Given the description of an element on the screen output the (x, y) to click on. 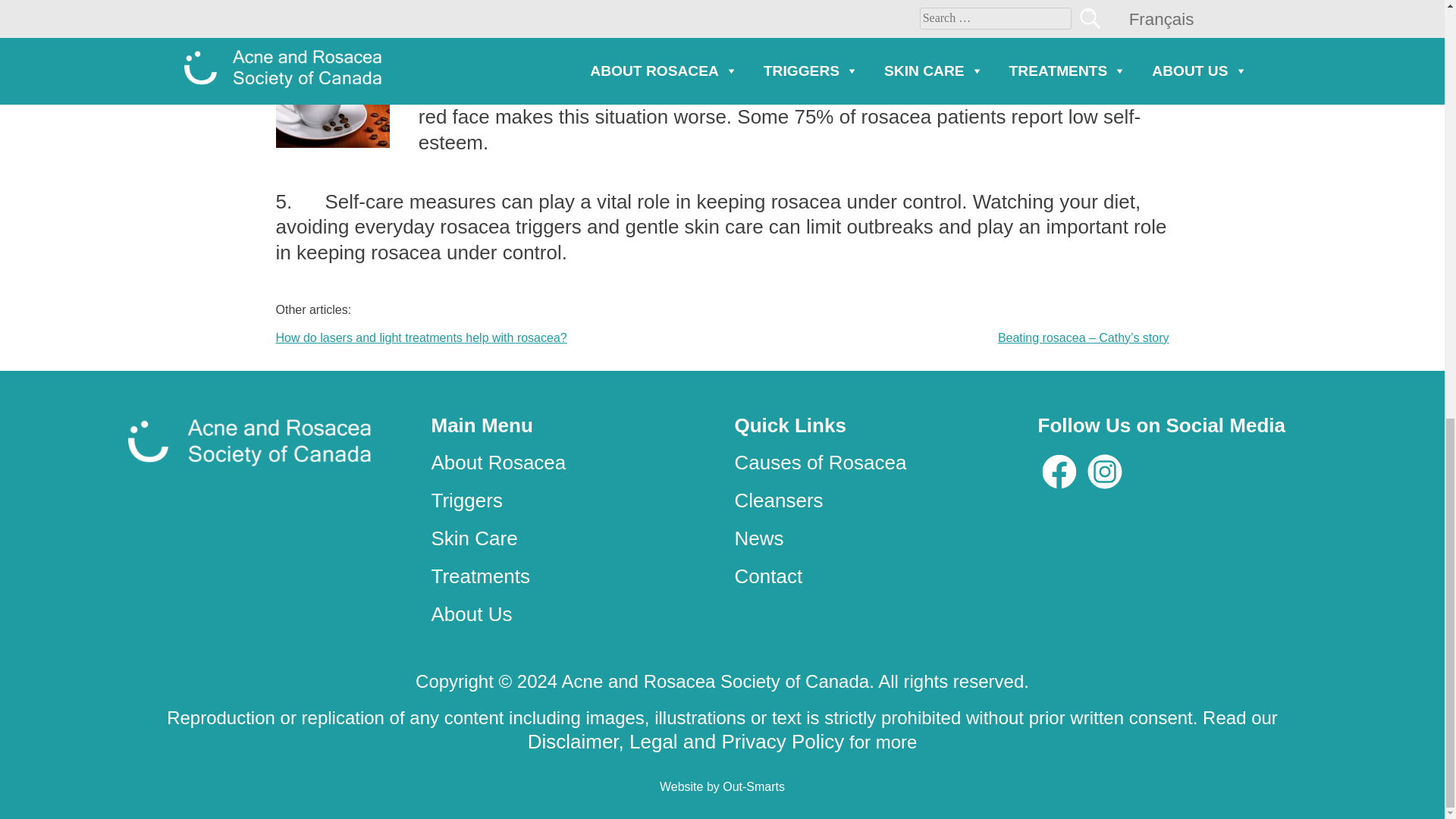
About Rosacea (498, 462)
How do lasers and light treatments help with rosacea? (421, 337)
